Given the description of an element on the screen output the (x, y) to click on. 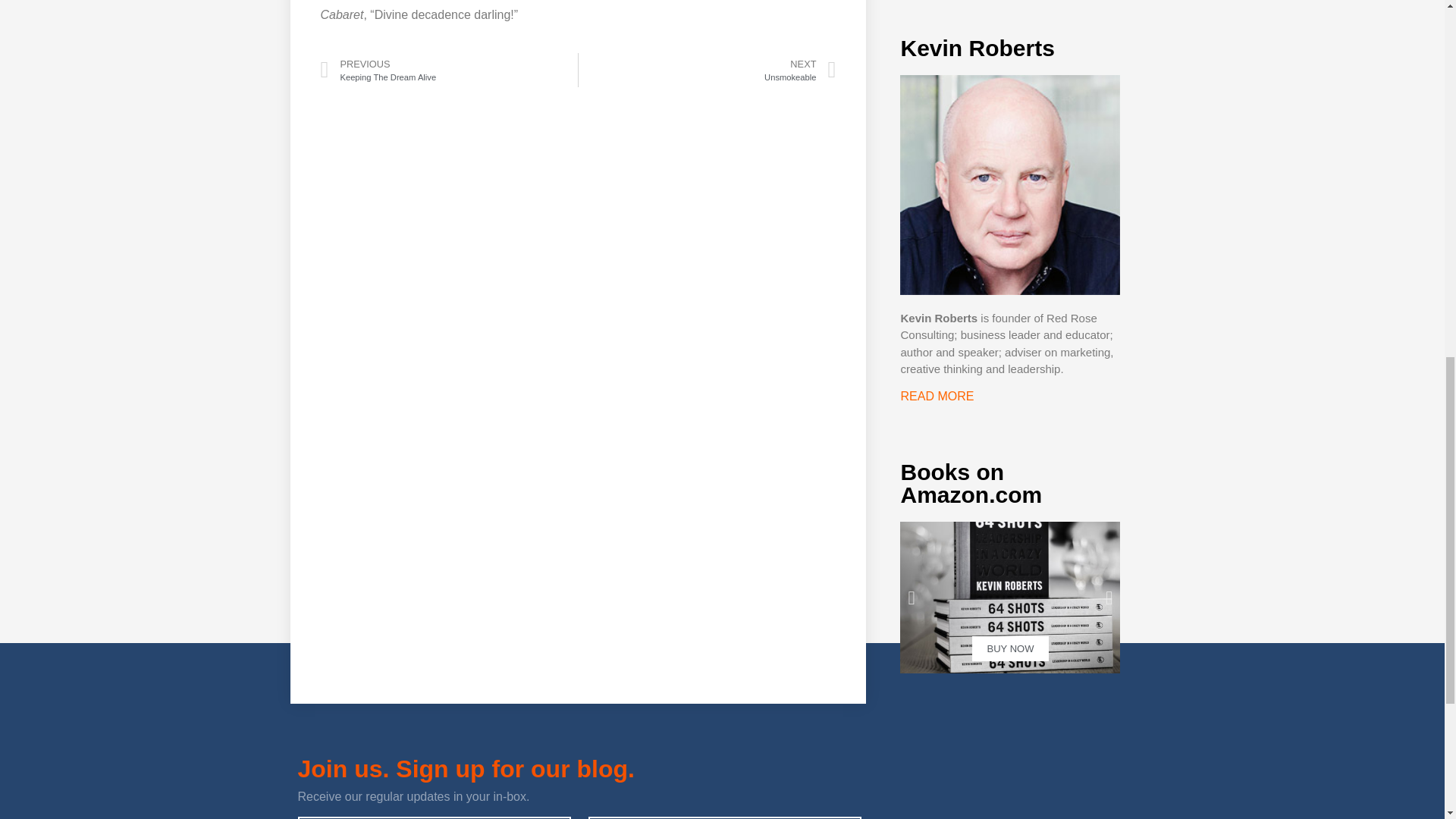
BUY NOW (706, 69)
READ MORE (1009, 597)
